Given the description of an element on the screen output the (x, y) to click on. 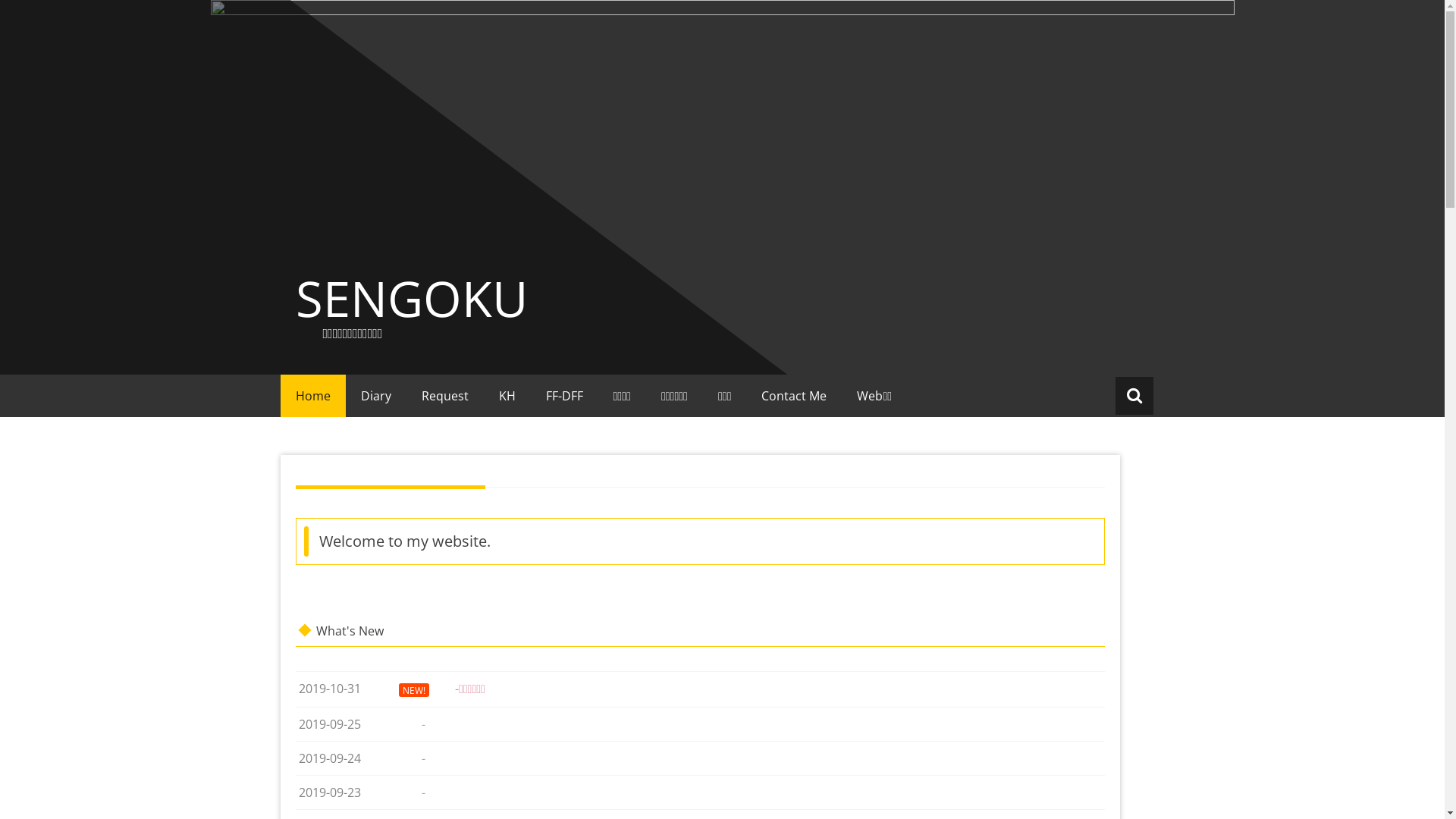
SENGOKU Element type: text (411, 297)
Home Element type: text (312, 395)
Request Element type: text (444, 395)
Contact Me Element type: text (793, 395)
KH Element type: text (506, 395)
FF-DFF Element type: text (564, 395)
Diary Element type: text (375, 395)
